Given the description of an element on the screen output the (x, y) to click on. 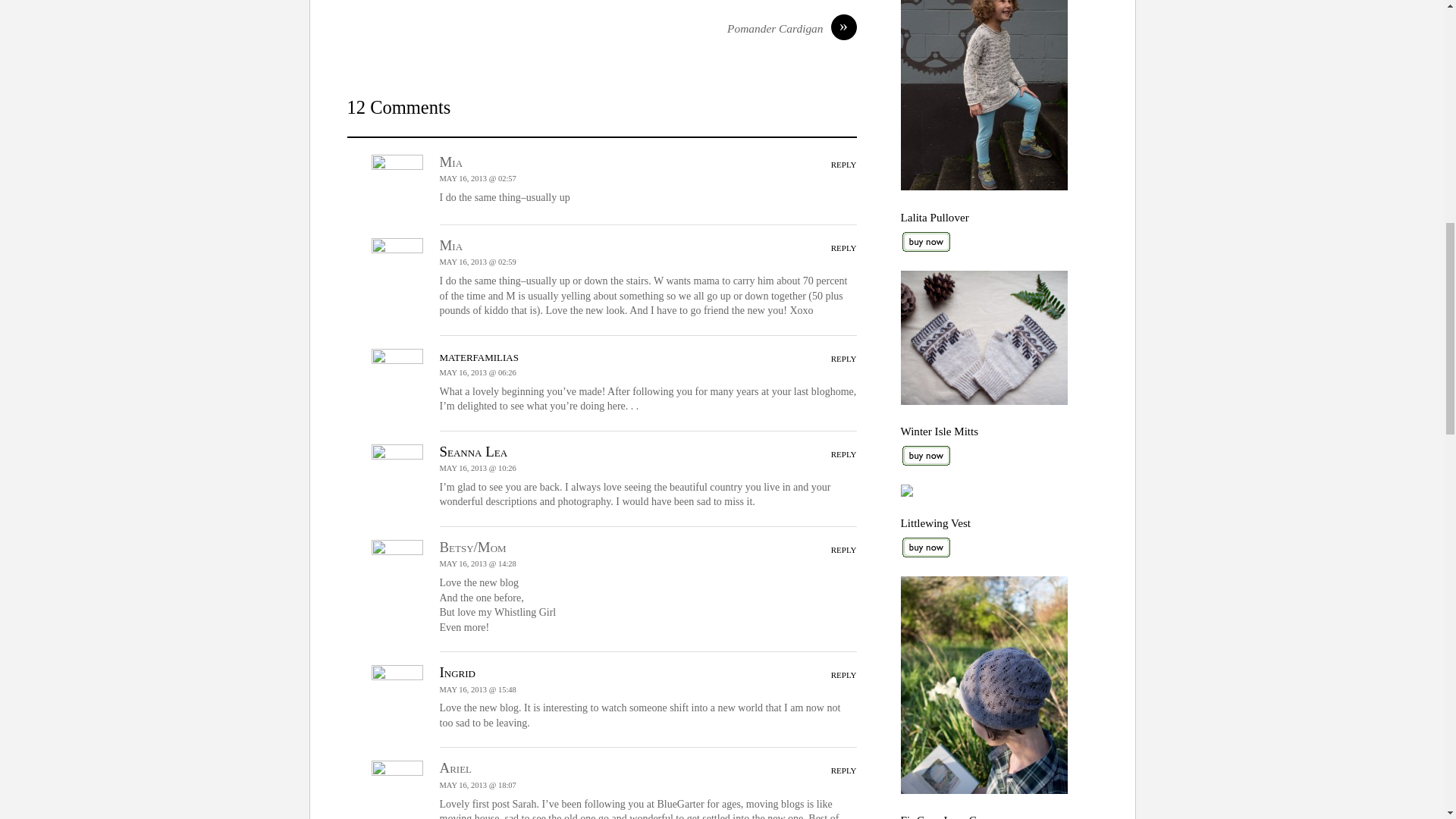
REPLY (844, 769)
REPLY (844, 247)
REPLY (844, 453)
REPLY (844, 549)
Seanna Lea (473, 451)
materfamilias (479, 355)
REPLY (844, 163)
REPLY (844, 674)
Ingrid (457, 672)
REPLY (844, 358)
